Given the description of an element on the screen output the (x, y) to click on. 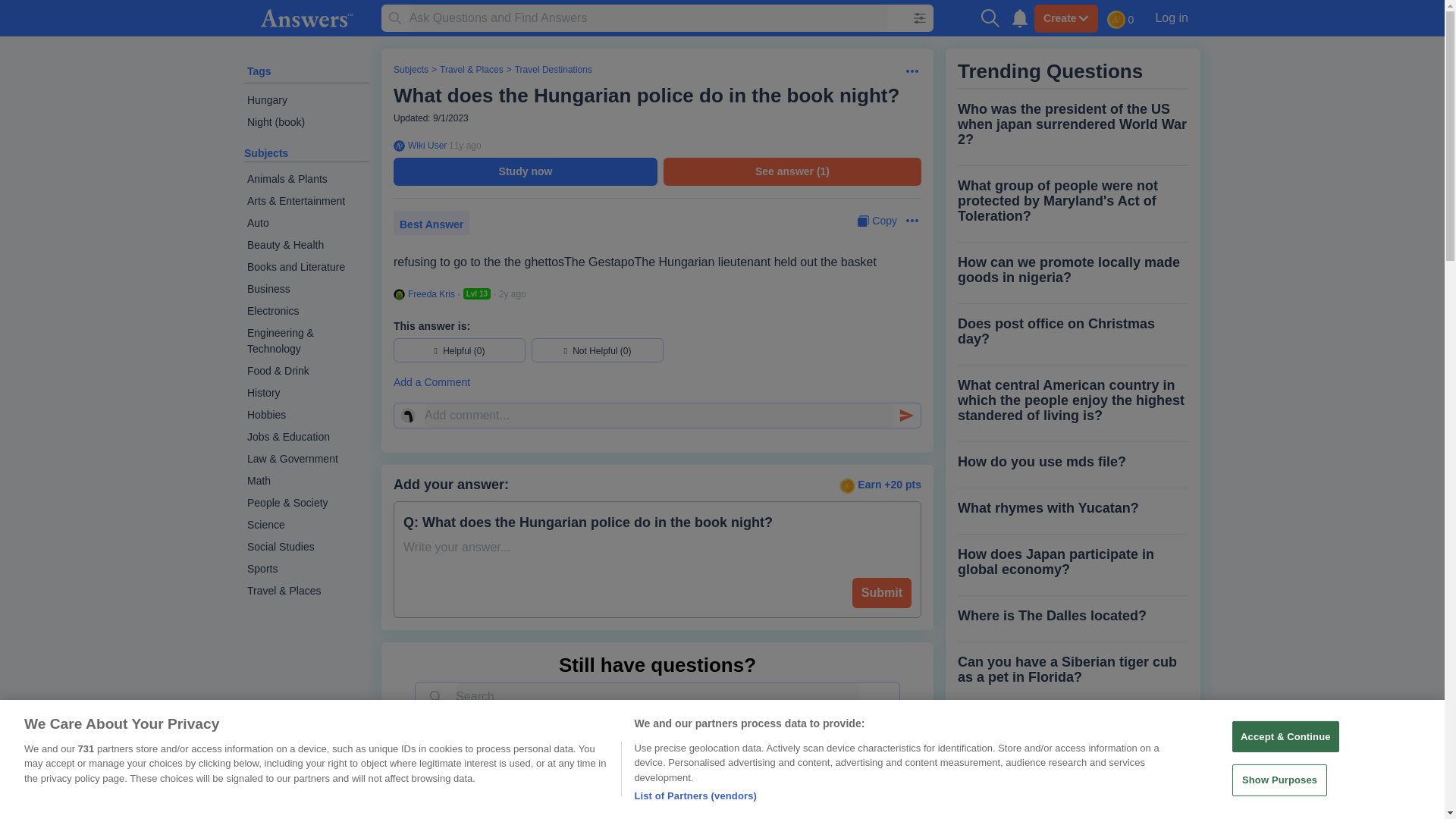
Add a Comment (657, 382)
Social Studies (306, 546)
Copy (876, 220)
Electronics (306, 311)
Science (306, 525)
Log in (1170, 17)
Tags (258, 70)
Subjects (410, 69)
Auto (306, 223)
Hobbies (306, 414)
2022-04-19 02:58:13 (512, 294)
What does the Hungarian police do in the book night? (646, 95)
History (306, 393)
2012-12-08 22:28:49 (464, 145)
Find more answers (551, 738)
